Given the description of an element on the screen output the (x, y) to click on. 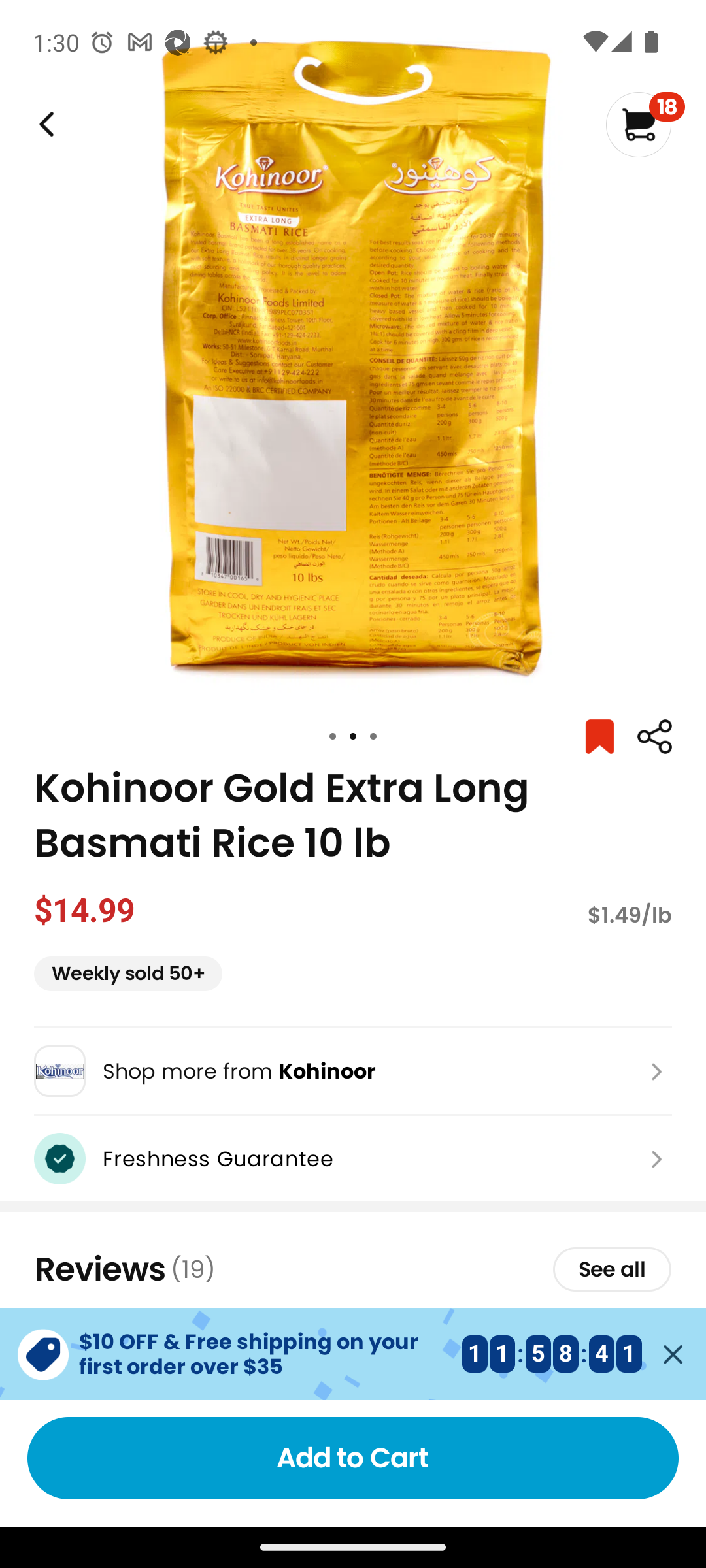
18 (644, 124)
Weee! (45, 124)
Weee! (653, 736)
Shop more from Kohinoor Weee! (352, 1070)
Freshness Guarantee (352, 1158)
Reviews (19) See all (353, 1269)
Add to Cart (352, 1458)
